Given the description of an element on the screen output the (x, y) to click on. 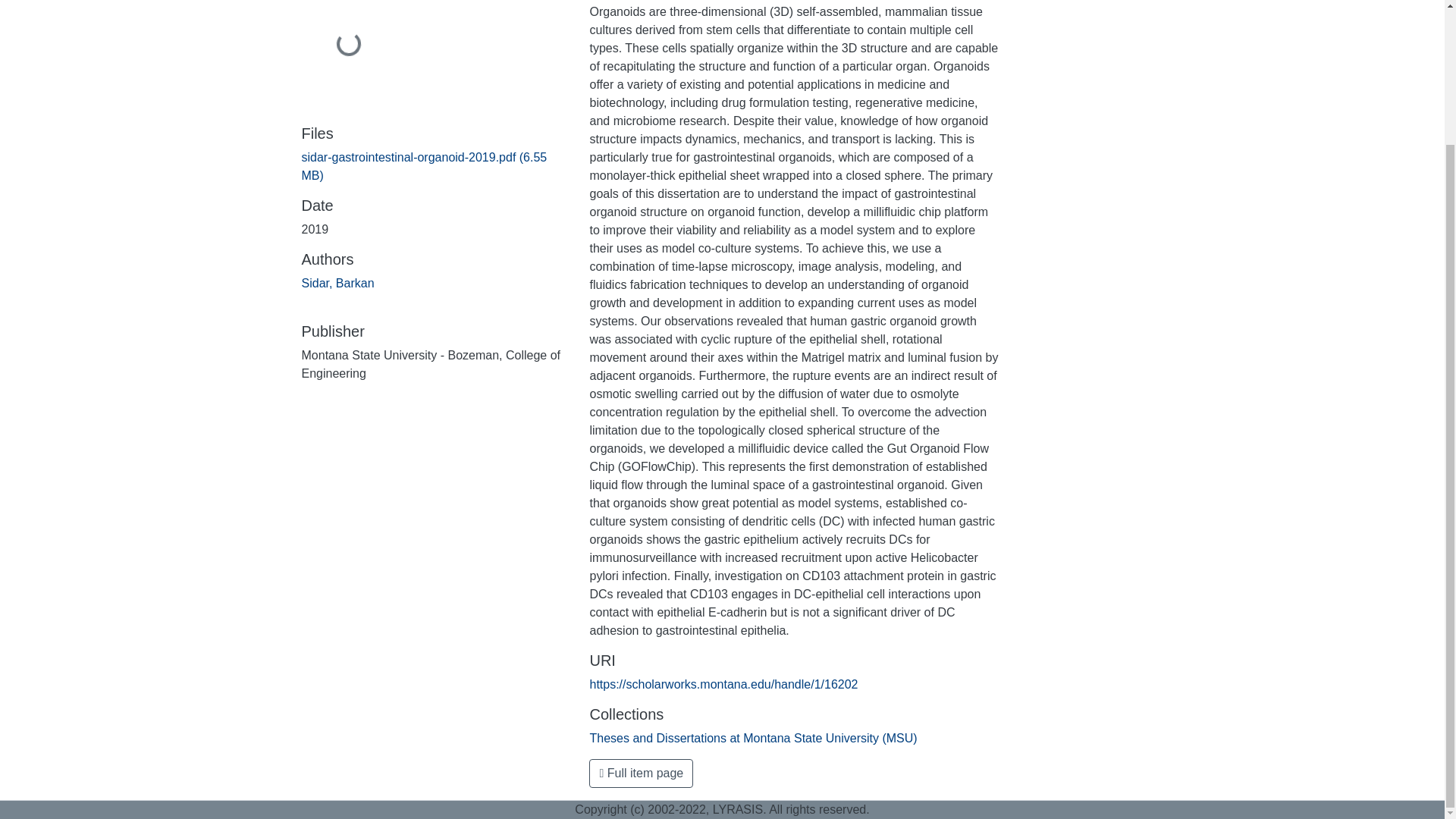
Sidar, Barkan (337, 282)
Full item page (641, 773)
